Given the description of an element on the screen output the (x, y) to click on. 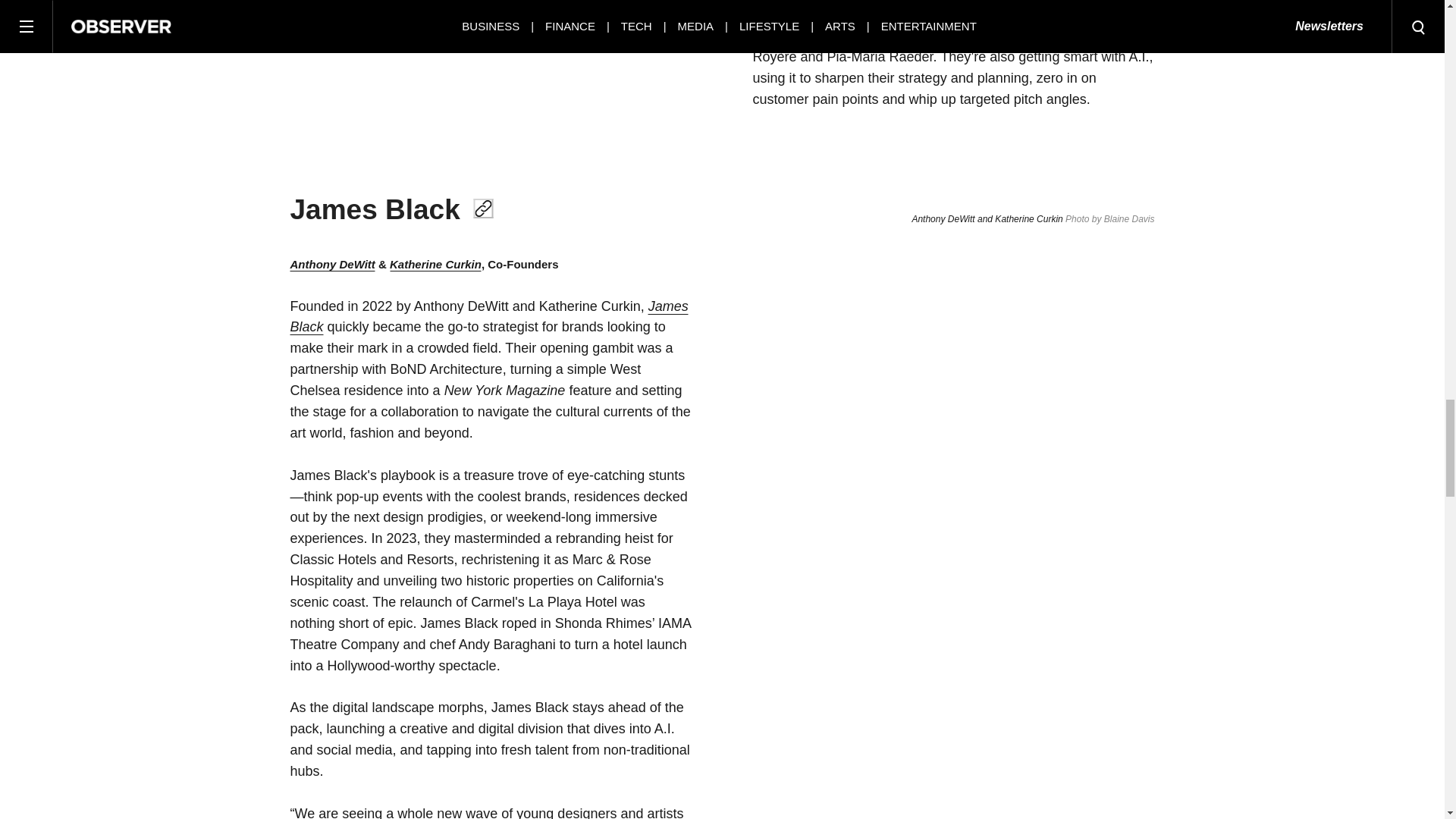
Katherine Curkin (435, 264)
James Black (488, 316)
Anthony DeWitt (331, 264)
